Given the description of an element on the screen output the (x, y) to click on. 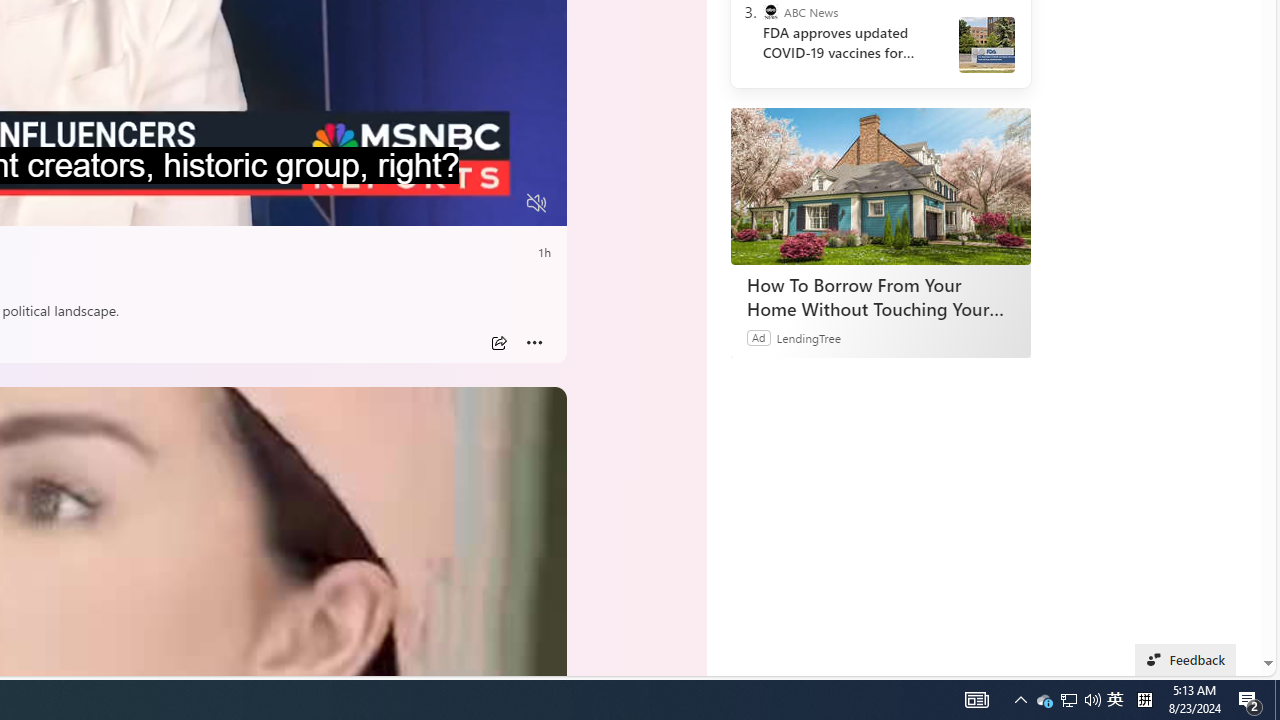
Unmute (535, 203)
